Given the description of an element on the screen output the (x, y) to click on. 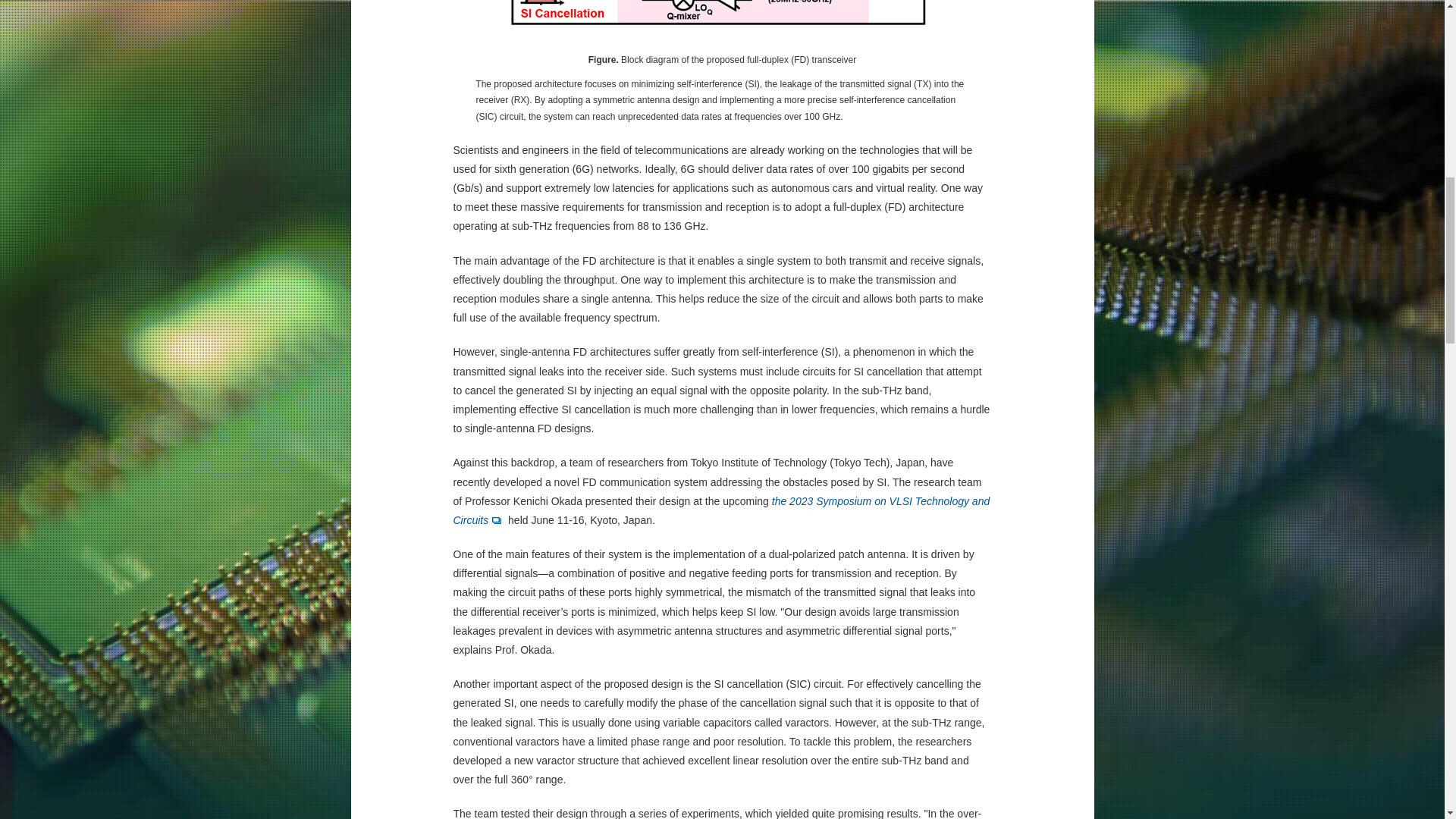
the 2023 Symposium on VLSI Technology and Circuits (721, 510)
